Given the description of an element on the screen output the (x, y) to click on. 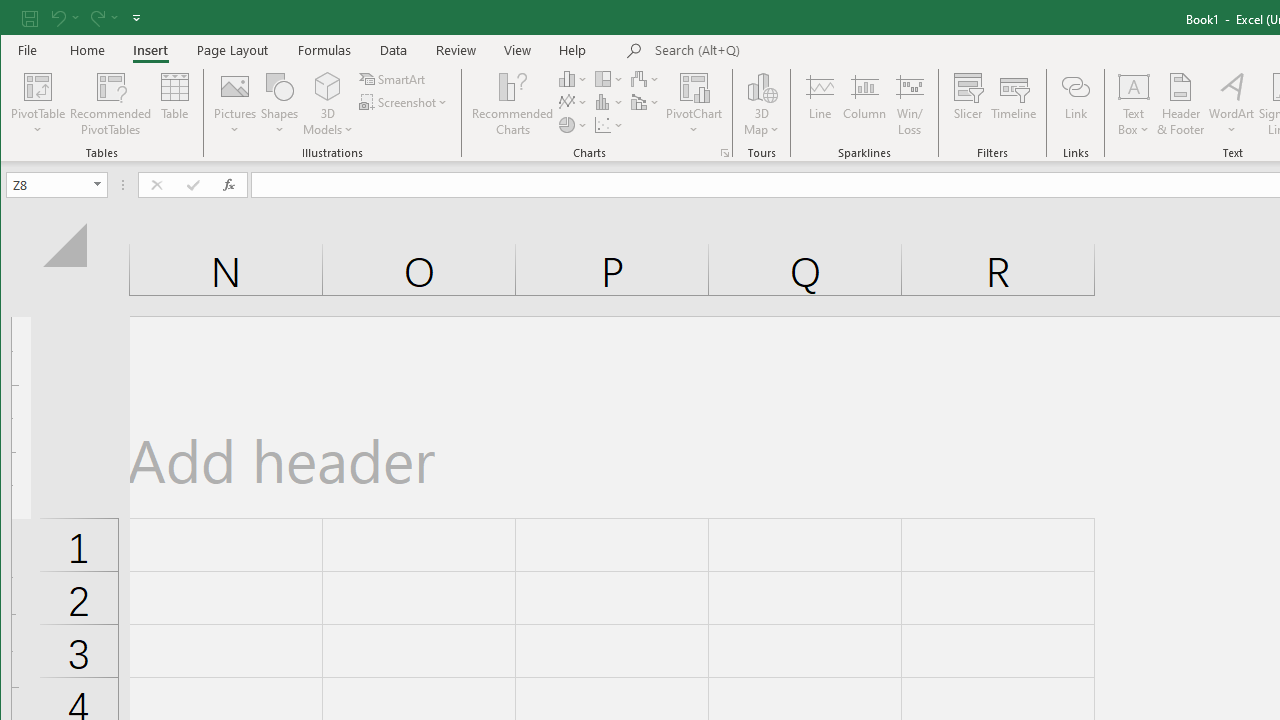
PivotChart (694, 104)
3D Models (327, 86)
Slicer... (968, 104)
Screenshot (404, 101)
Insert Combo Chart (646, 101)
Link (1075, 104)
SmartArt... (393, 78)
Line (819, 104)
Pictures (235, 104)
Timeline (1014, 104)
